Given the description of an element on the screen output the (x, y) to click on. 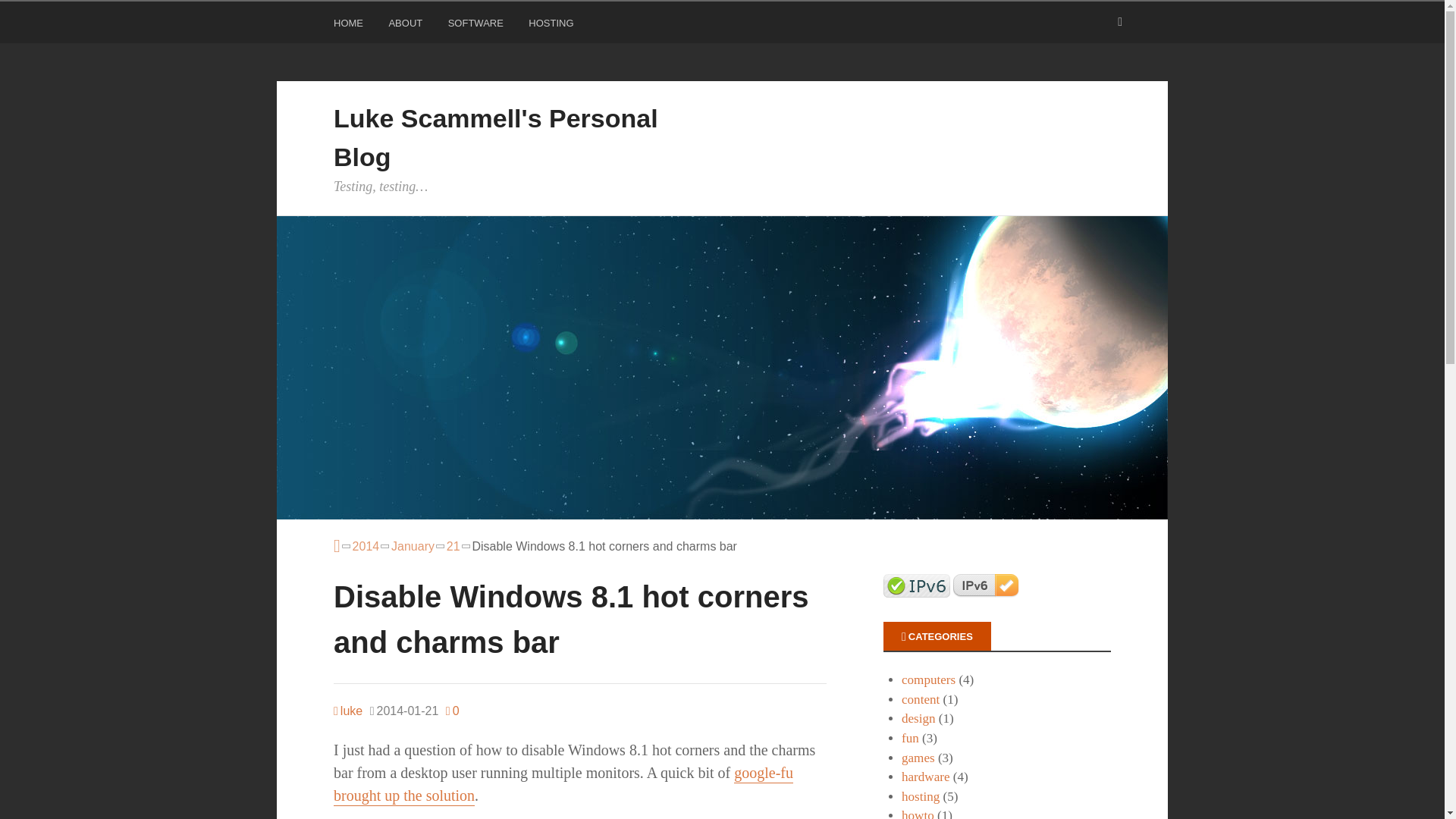
ipv6 ready (916, 585)
fun (909, 738)
games (917, 757)
howto (917, 813)
google-fu brought up the solution (563, 784)
January (412, 546)
ABOUT (407, 26)
ipv6 ready (986, 585)
Search (30, 15)
design (918, 718)
luke (347, 710)
HOSTING (552, 26)
SOFTWARE (477, 26)
content (920, 699)
HOME (349, 26)
